Given the description of an element on the screen output the (x, y) to click on. 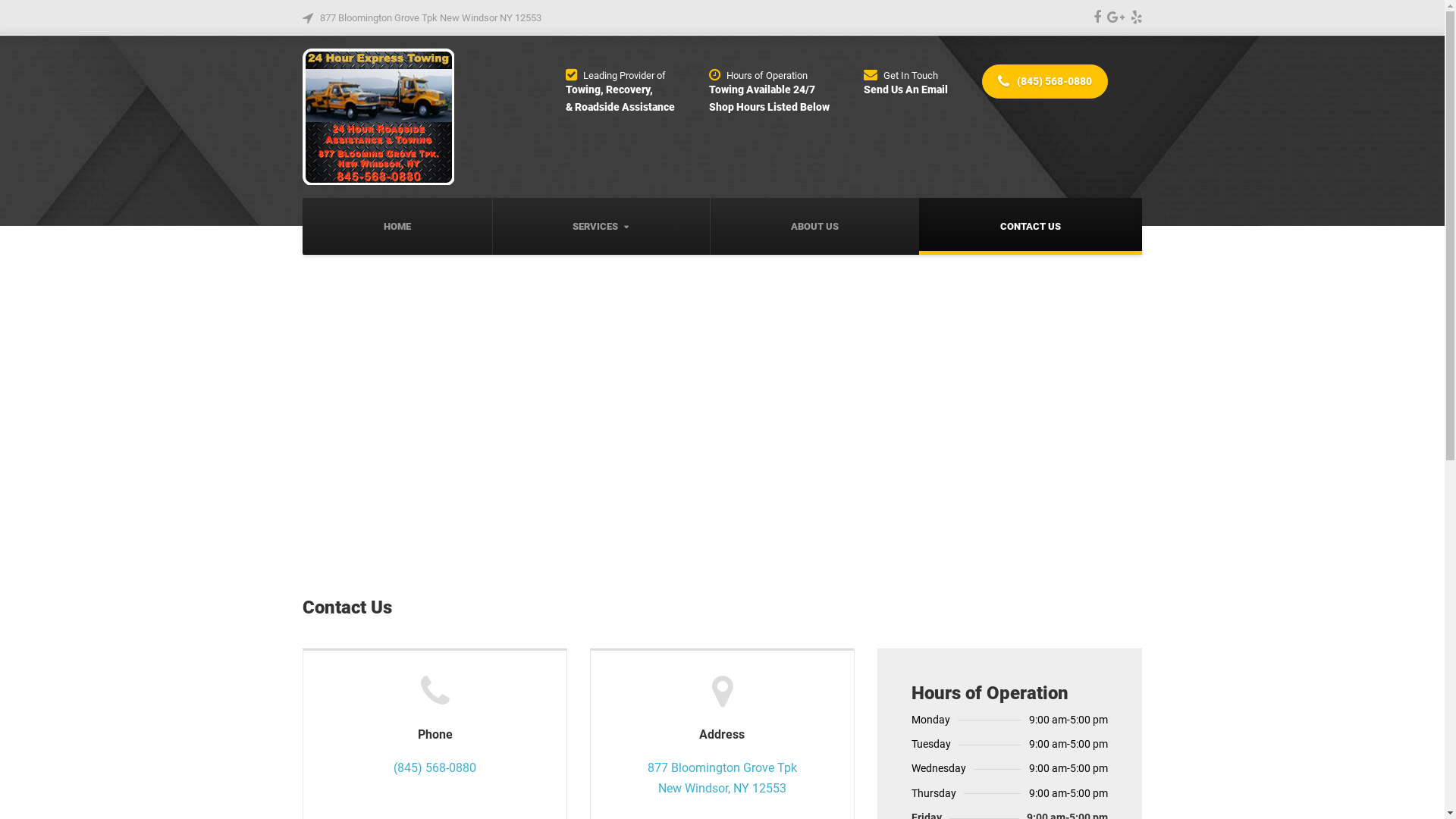
(845) 568-0880 Element type: text (434, 767)
ABOUT US Element type: text (814, 226)
SERVICES Element type: text (600, 226)
877 Bloomington Grove Tpk Element type: text (722, 767)
HOME Element type: text (396, 226)
(845) 568-0880 Element type: text (1044, 81)
Get In Touch
Send Us An Email Element type: text (905, 80)
CONTACT US Element type: text (1030, 226)
New Windsor, NY 12553 Element type: text (722, 788)
Leading Provider of
Towing, Recovery,
& Roadside Assistance Element type: text (619, 90)
